Given the description of an element on the screen output the (x, y) to click on. 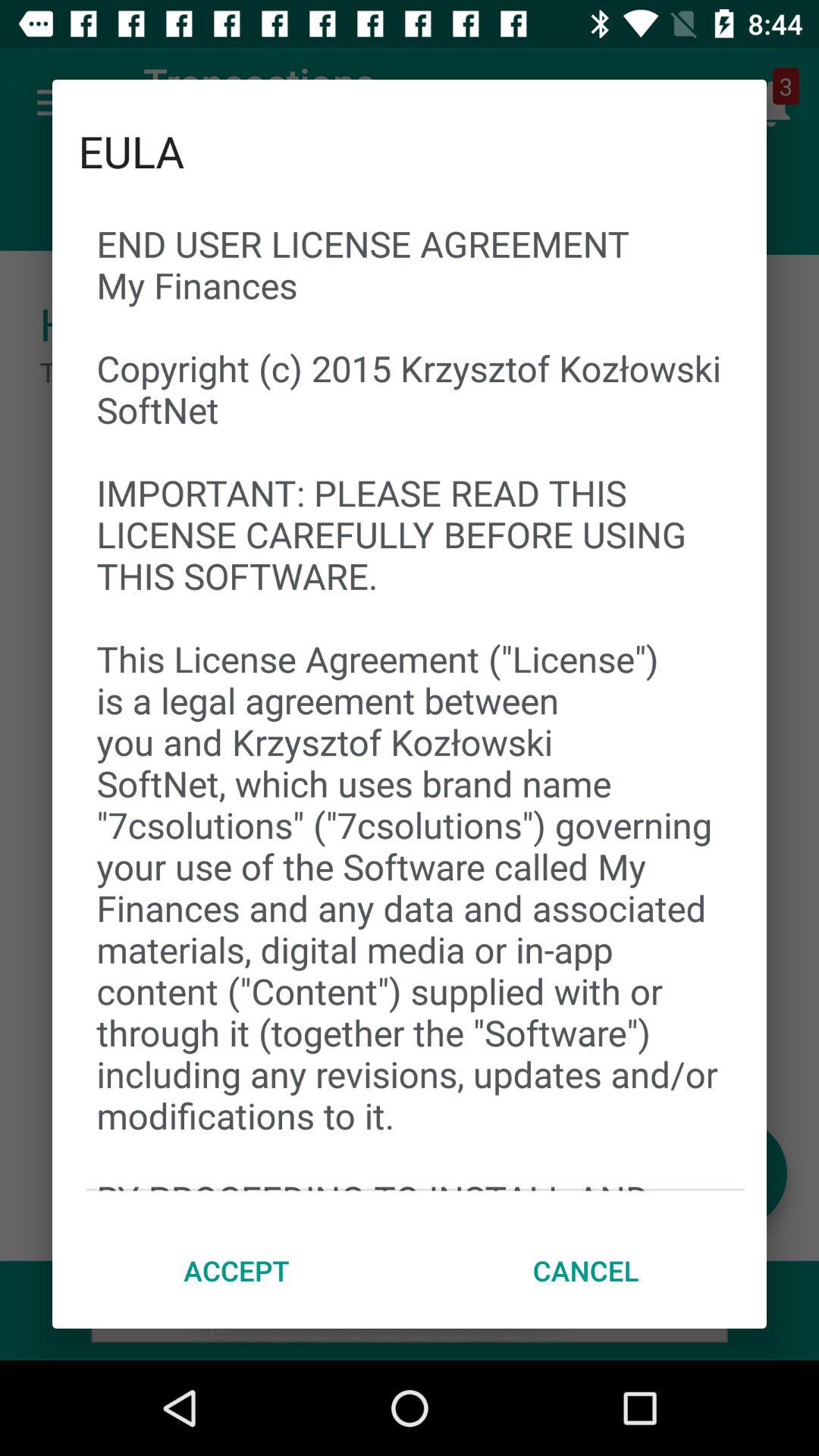
turn on item below end user license item (236, 1270)
